Given the description of an element on the screen output the (x, y) to click on. 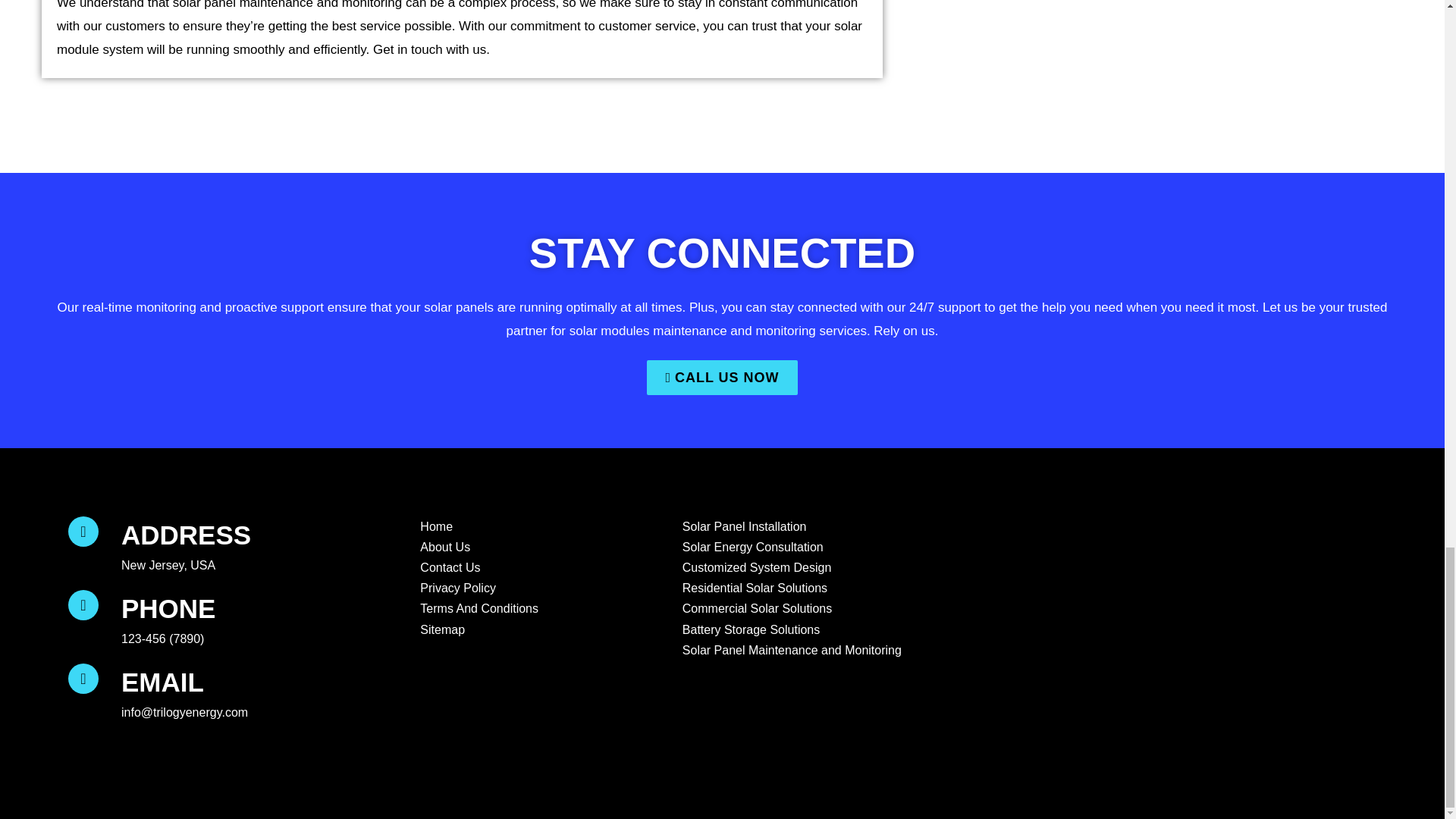
Battery Storage Solutions (749, 629)
Terms And Conditions (477, 608)
Sitemap (440, 629)
CALL US NOW (721, 377)
Solar Energy Consultation (751, 547)
Contact Us (448, 567)
About Us (443, 547)
Customized System Design (755, 567)
Residential Solar Solutions (753, 588)
Home (434, 526)
Solar Panel Maintenance and Monitoring (790, 649)
Solar Panel Installation (742, 526)
Commercial Solar Solutions (755, 608)
Privacy Policy (456, 588)
